Given the description of an element on the screen output the (x, y) to click on. 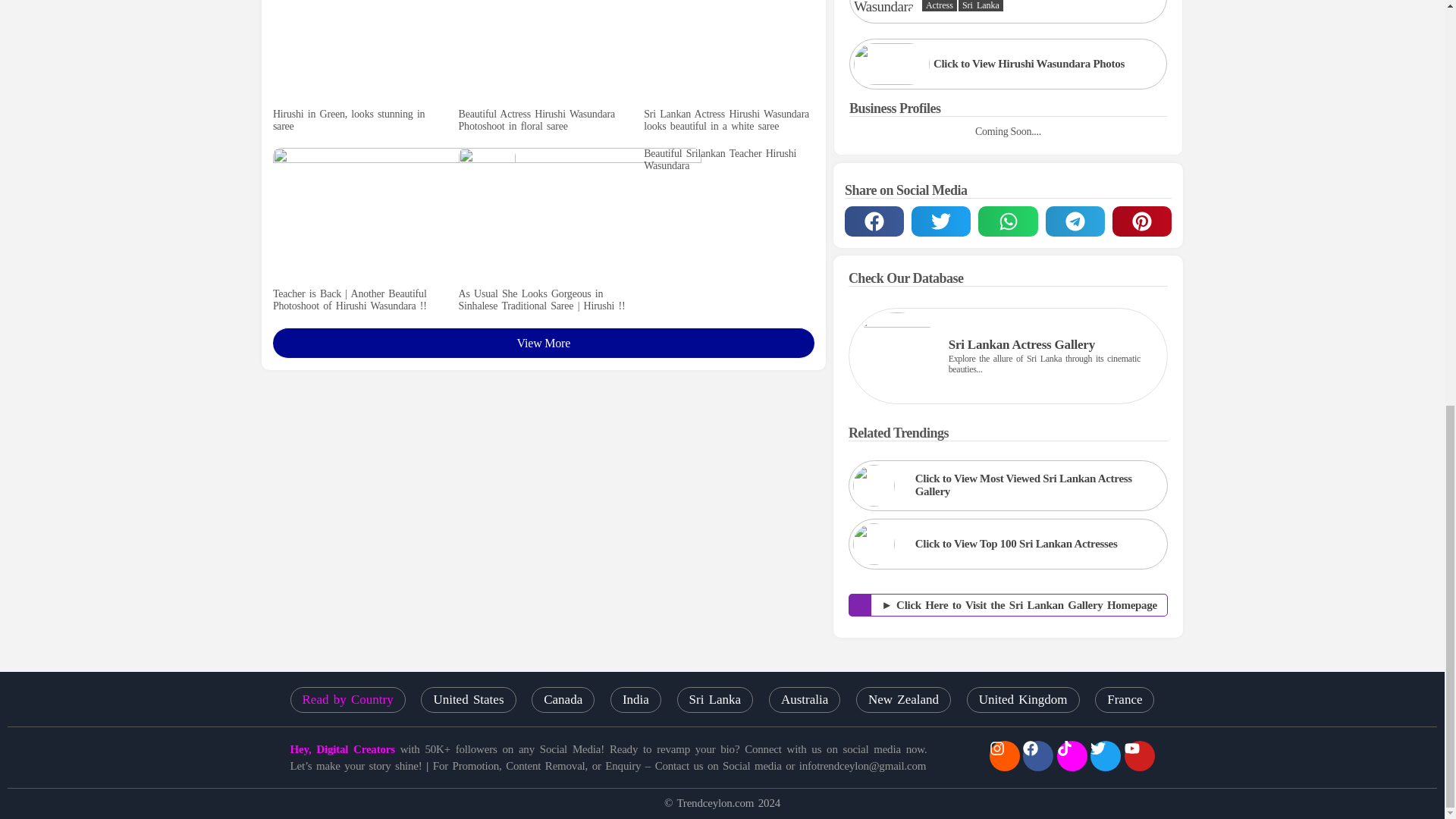
Hirushi Wasundara 2206132335 29 (883, 9)
